Given the description of an element on the screen output the (x, y) to click on. 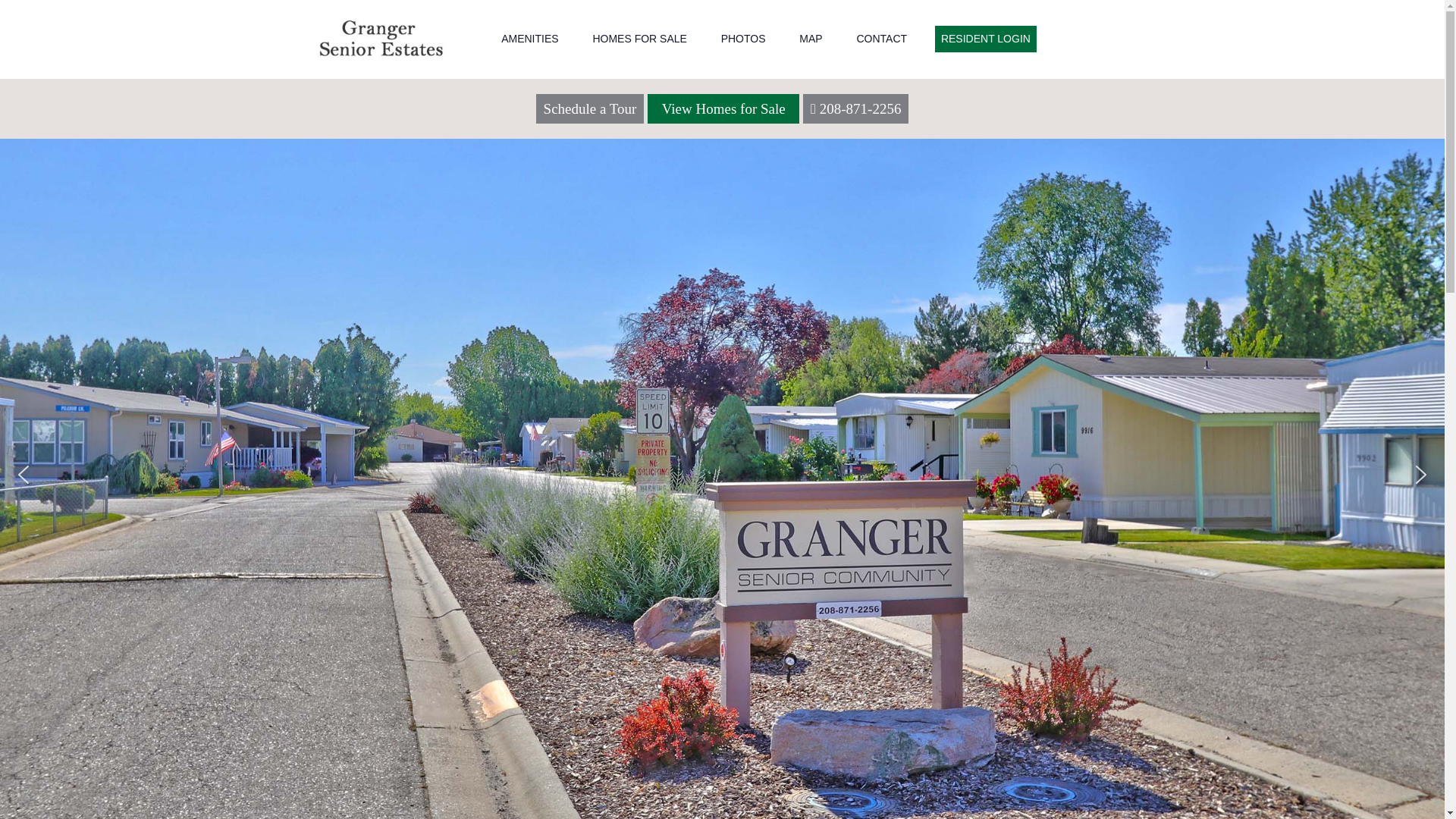
MAP (810, 38)
Schedule a Tour (590, 108)
View Homes for Sale (724, 108)
PHOTOS (742, 38)
208-871-2256 (860, 108)
RESIDENT LOGIN (985, 38)
CONTACT (881, 38)
HOMES FOR SALE (639, 38)
AMENITIES (529, 38)
